Given the description of an element on the screen output the (x, y) to click on. 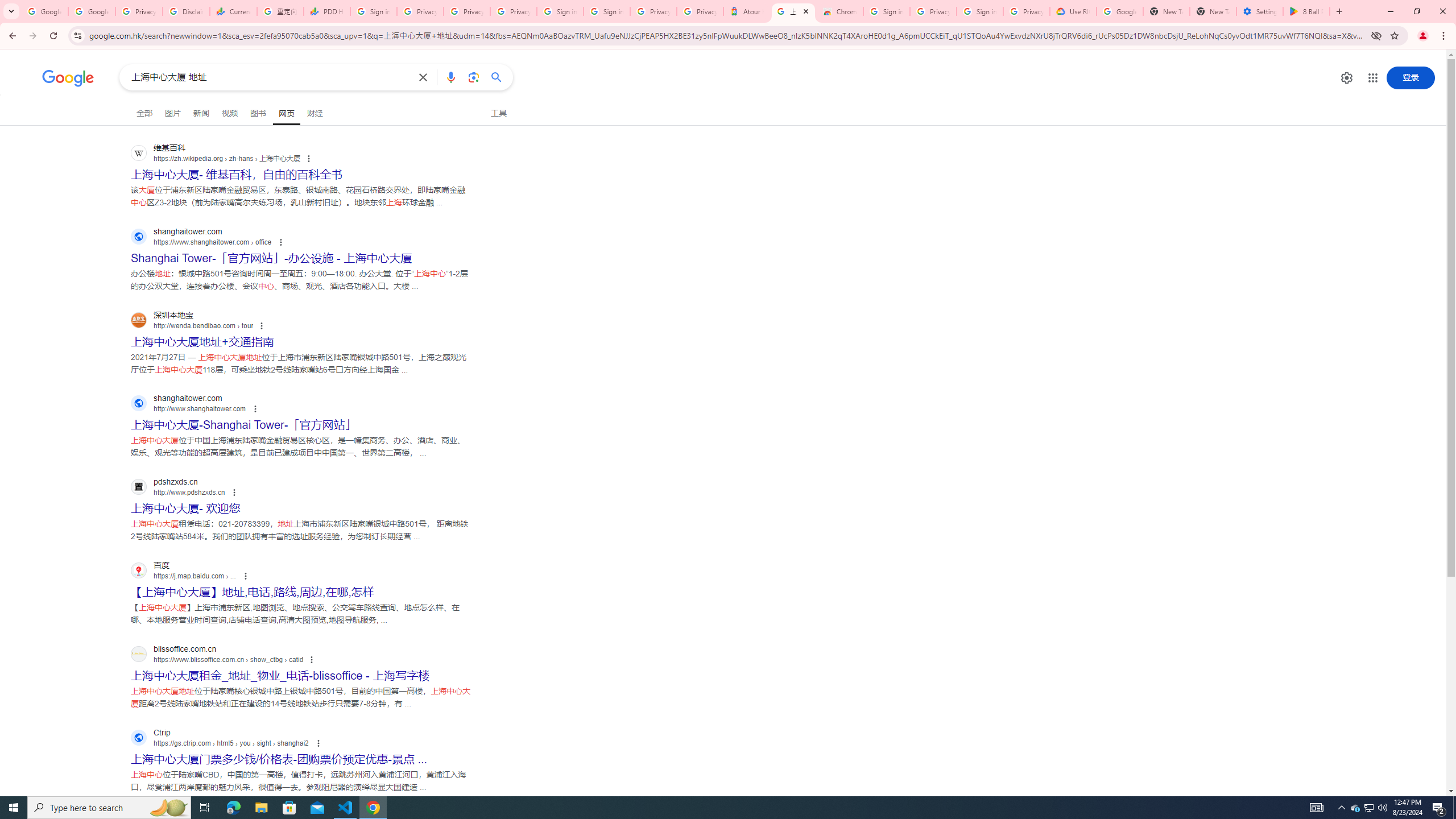
Chrome Web Store - Color themes by Chrome (838, 11)
Sign in - Google Accounts (980, 11)
